Given the description of an element on the screen output the (x, y) to click on. 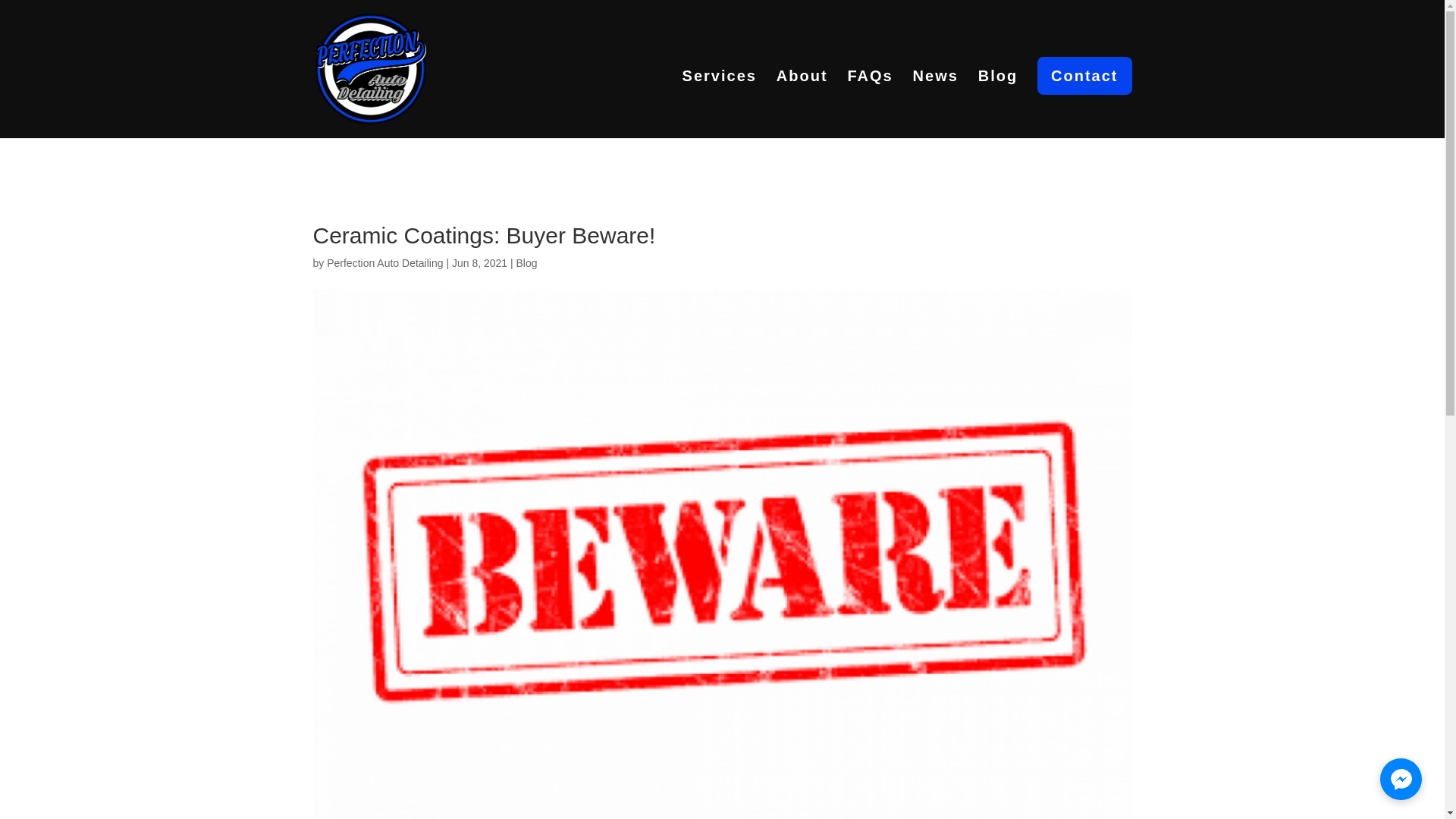
Contact (1084, 75)
Blog (526, 263)
Posts by Perfection Auto Detailing (384, 263)
Services (719, 104)
Perfection Auto Detailing (384, 263)
